Given the description of an element on the screen output the (x, y) to click on. 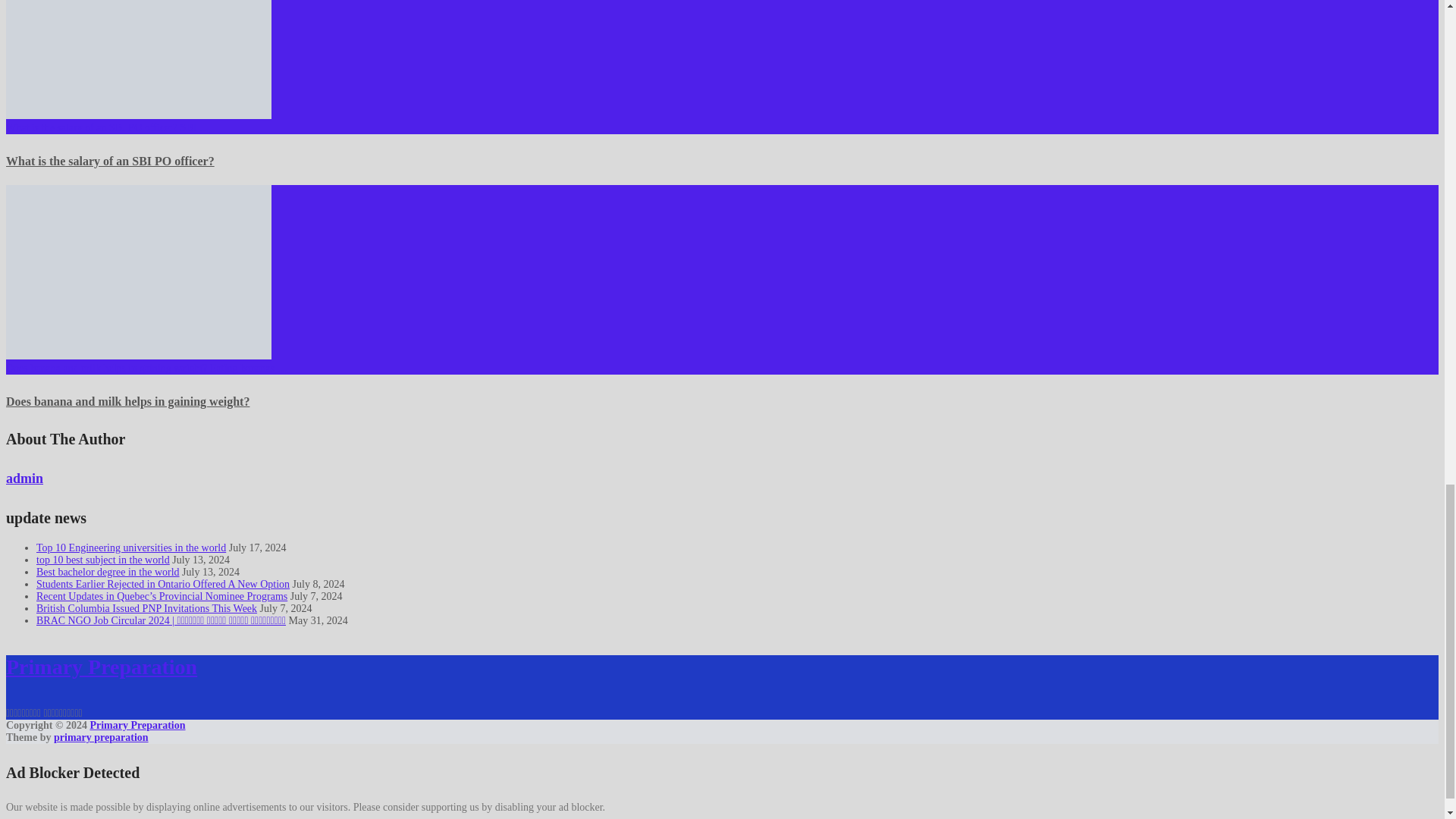
What is the salary of an SBI PO officer? (109, 160)
top 10 best subject in the world (103, 559)
Does banana and milk helps in gaining weight? (126, 400)
Top 10 Engineering universities in the world (130, 547)
Students Earlier Rejected in Ontario Offered A New Option (162, 583)
What is the salary of an SBI PO officer? (109, 160)
Does banana and milk helps in gaining weight? (126, 400)
Does banana and milk helps in gaining weight? (137, 272)
admin (24, 478)
Best bachelor degree in the world (107, 572)
